Given the description of an element on the screen output the (x, y) to click on. 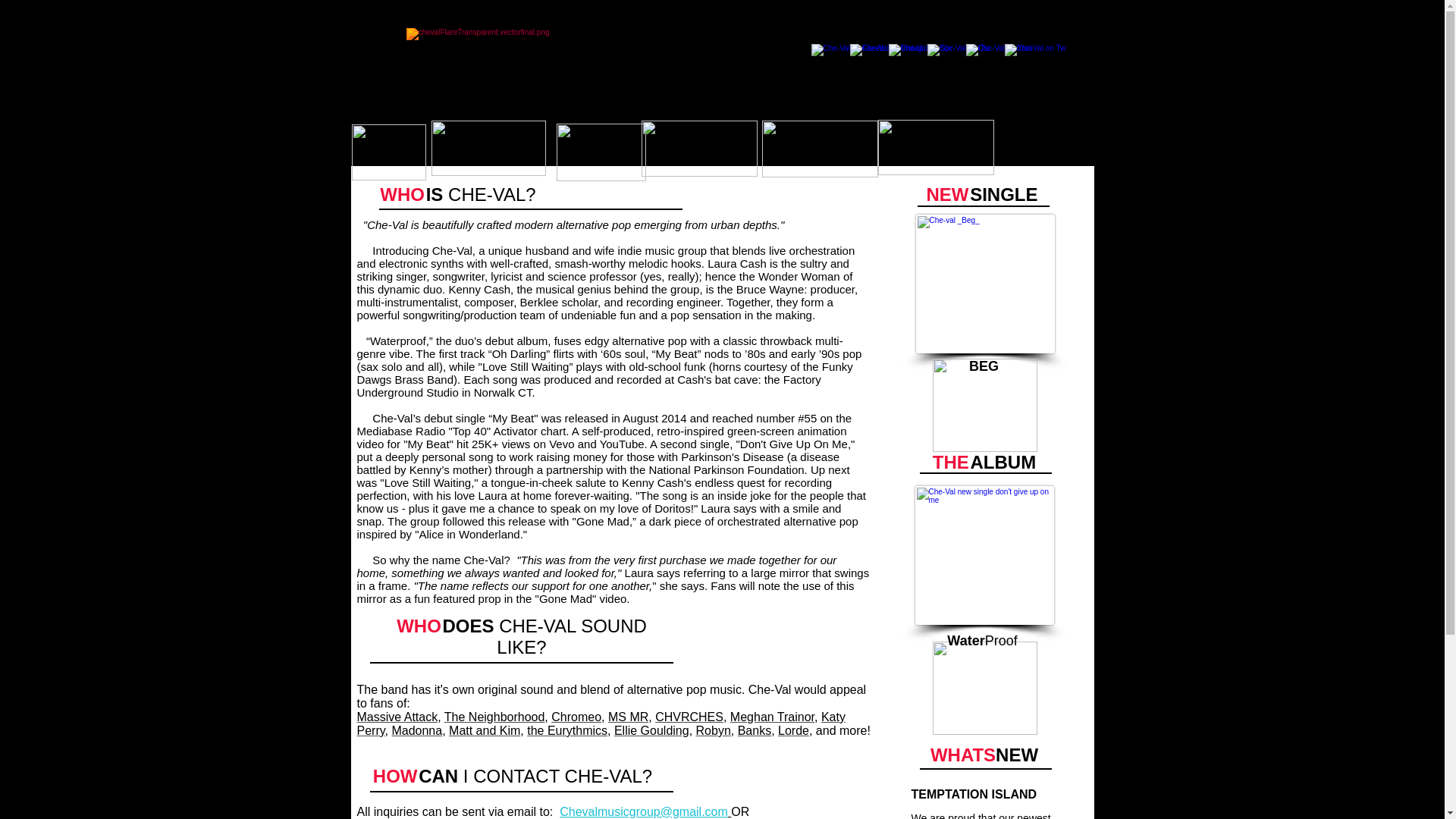
Katy Perry (600, 723)
MS MR (627, 716)
CHVRCHES (689, 716)
Robyn (712, 730)
Madonna (416, 730)
Ellie Goulding (651, 730)
the Eurythmics (567, 730)
Chromeo (576, 716)
Che-Val itunes link for new alternative pop music (984, 405)
Massive Attack (397, 716)
